Given the description of an element on the screen output the (x, y) to click on. 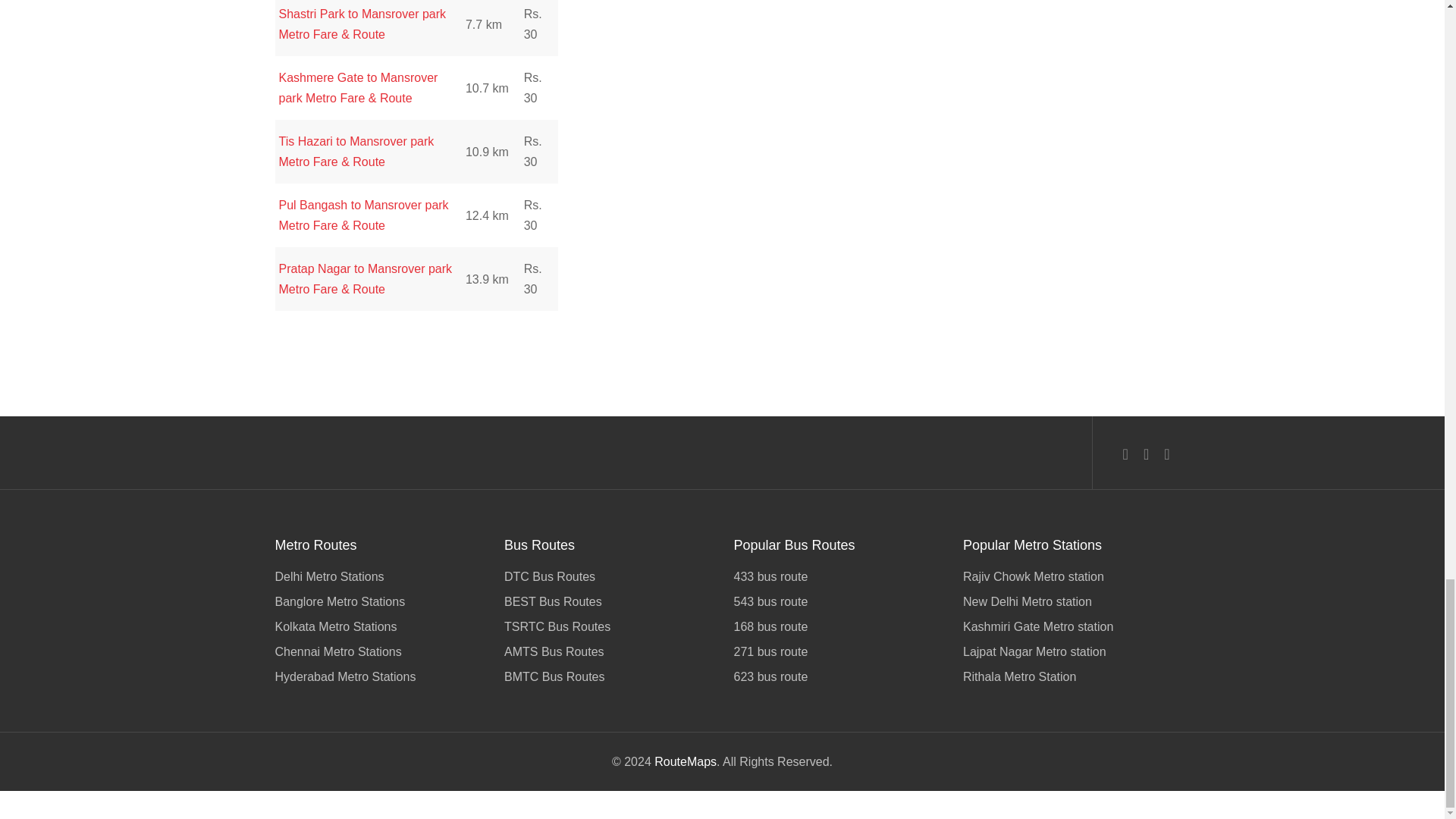
Delhi Metro Stations (378, 577)
TSRTC Bus Routes (607, 626)
Chennai Metro Stations (378, 651)
Pinterest (1166, 454)
Kolkata Metro Stations (378, 626)
Twitter (1145, 454)
Facebook (1125, 454)
DTC Bus Routes (607, 577)
Hyderabad Metro Stations (378, 675)
BEST Bus Routes (607, 601)
Banglore Metro Stations (378, 601)
AMTS Bus Routes (607, 651)
